Given the description of an element on the screen output the (x, y) to click on. 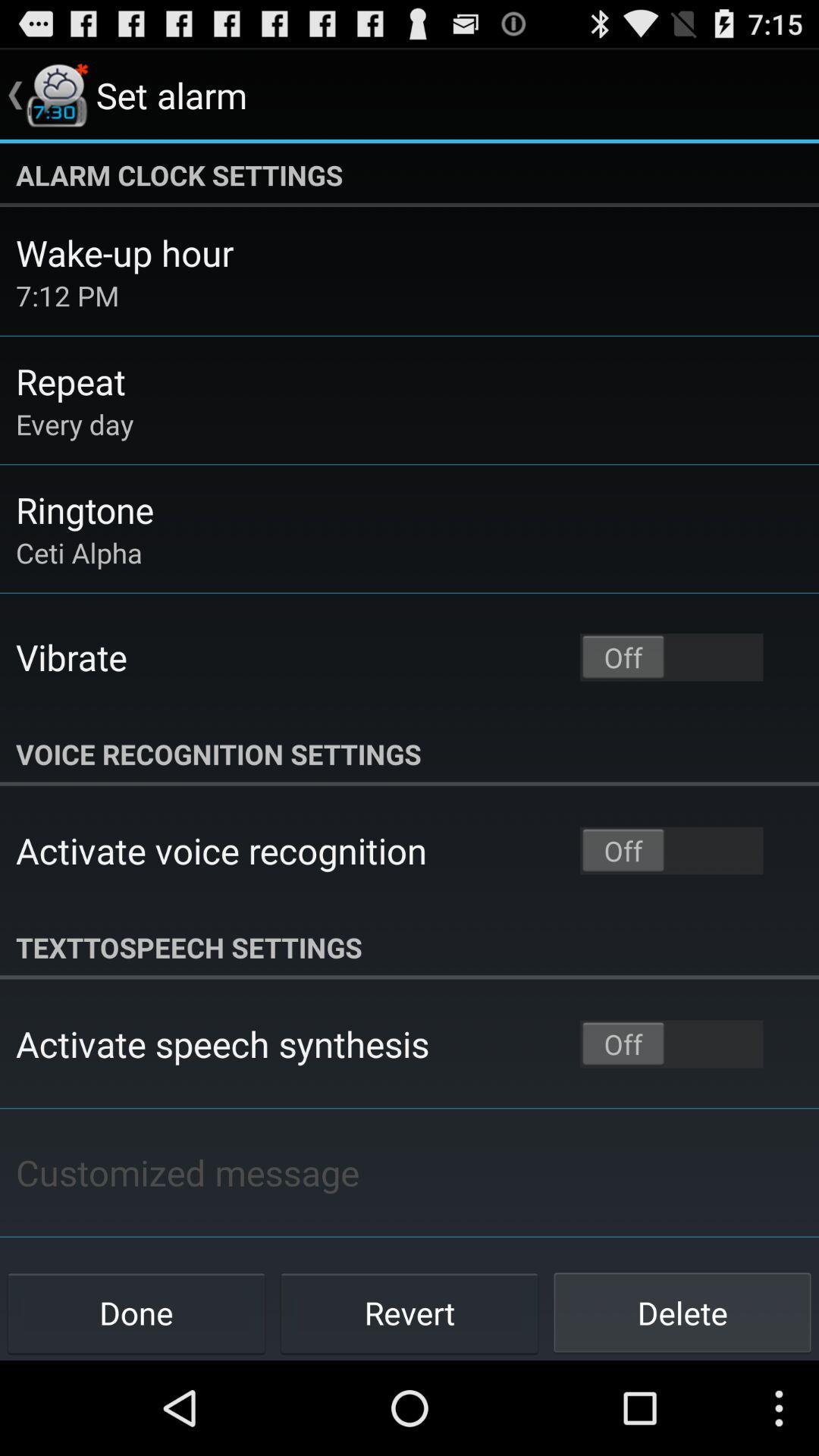
swipe to the ceti alpha app (78, 552)
